Given the description of an element on the screen output the (x, y) to click on. 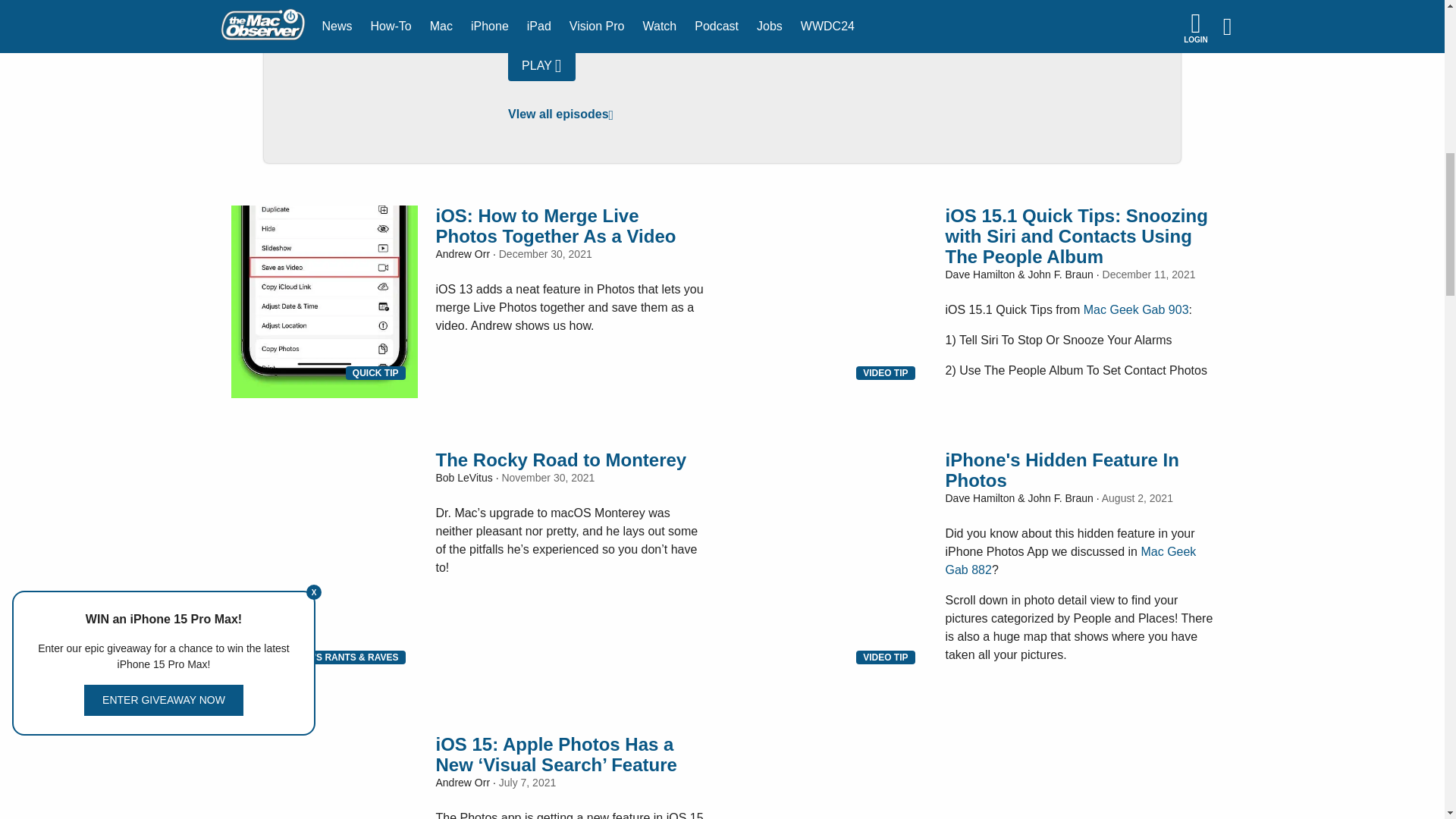
iOS 15.1 Quick Tips (832, 268)
iPhone's Hidden Feature In Photos (832, 513)
